Given the description of an element on the screen output the (x, y) to click on. 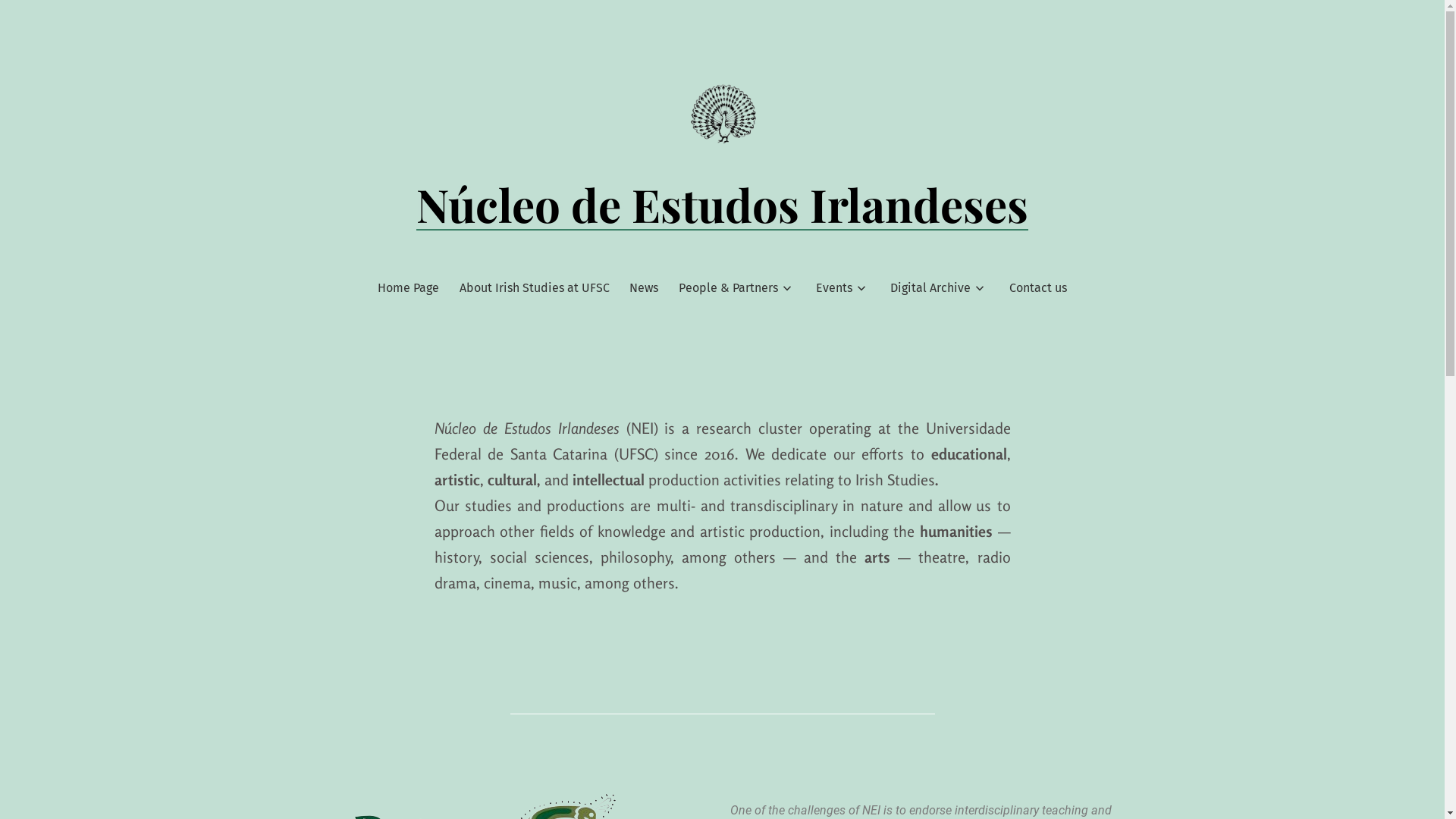
People & Partners Element type: text (727, 287)
Contact us Element type: text (1037, 287)
Events Element type: text (833, 287)
News Element type: text (643, 287)
About Irish Studies at UFSC Element type: text (534, 287)
Digital Archive Element type: text (930, 287)
Home Page Element type: text (408, 287)
